Given the description of an element on the screen output the (x, y) to click on. 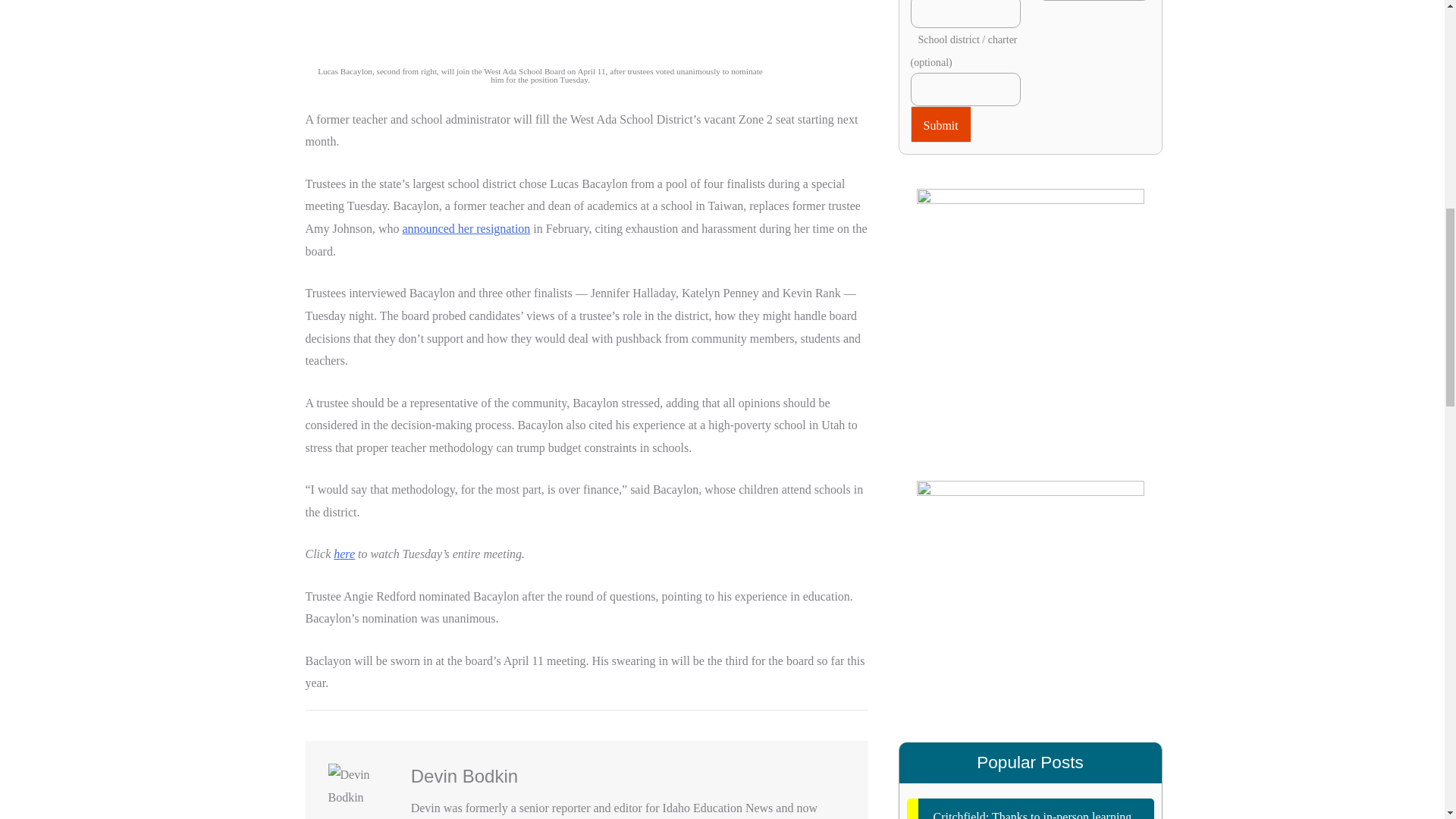
here (344, 553)
announced her resignation (467, 228)
Submit (940, 124)
